Given the description of an element on the screen output the (x, y) to click on. 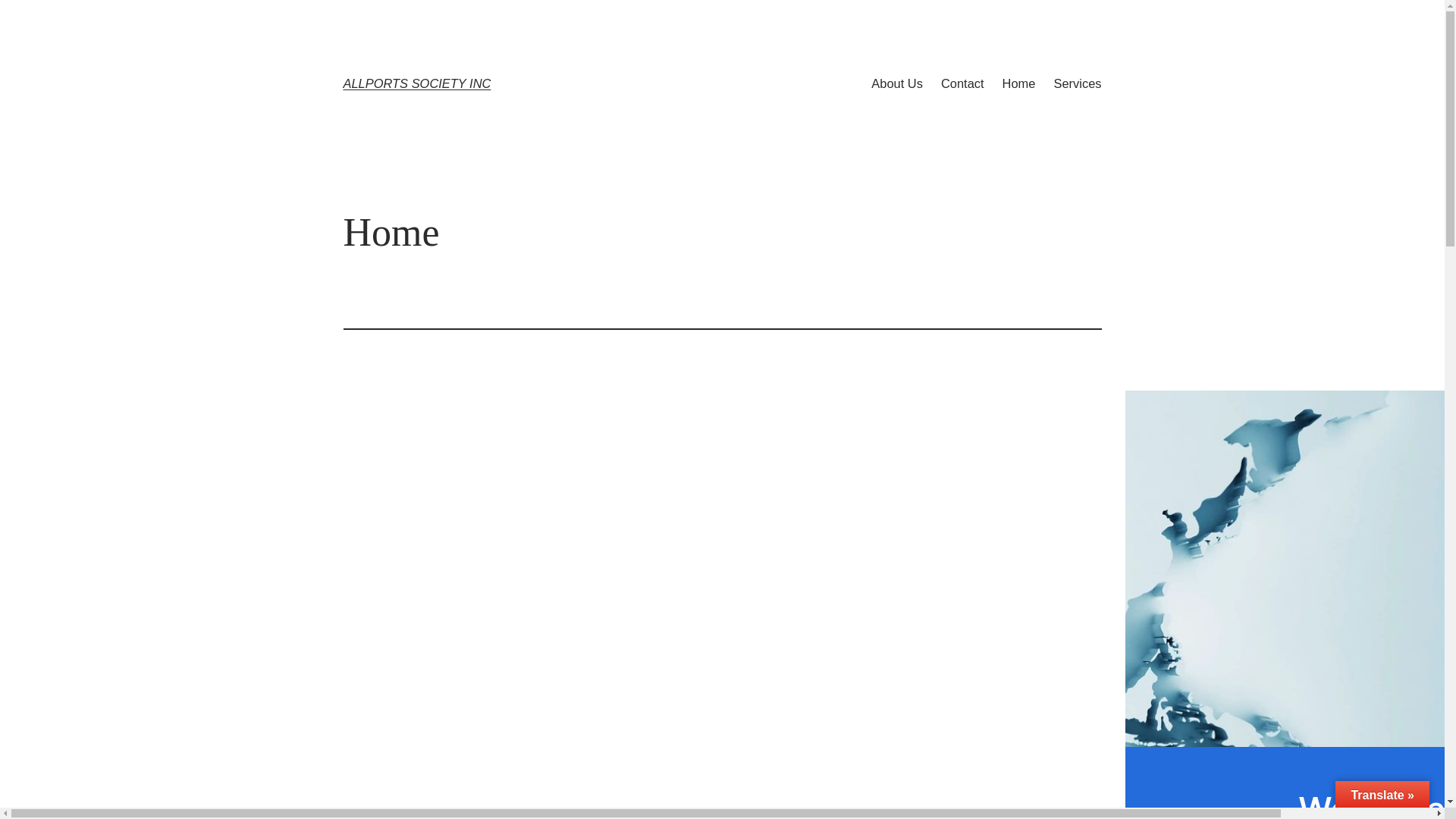
ALLPORTS SOCIETY INC Element type: text (416, 83)
Contact Element type: text (962, 83)
About Us Element type: text (896, 83)
Home Element type: text (1018, 83)
Services Element type: text (1077, 83)
